Given the description of an element on the screen output the (x, y) to click on. 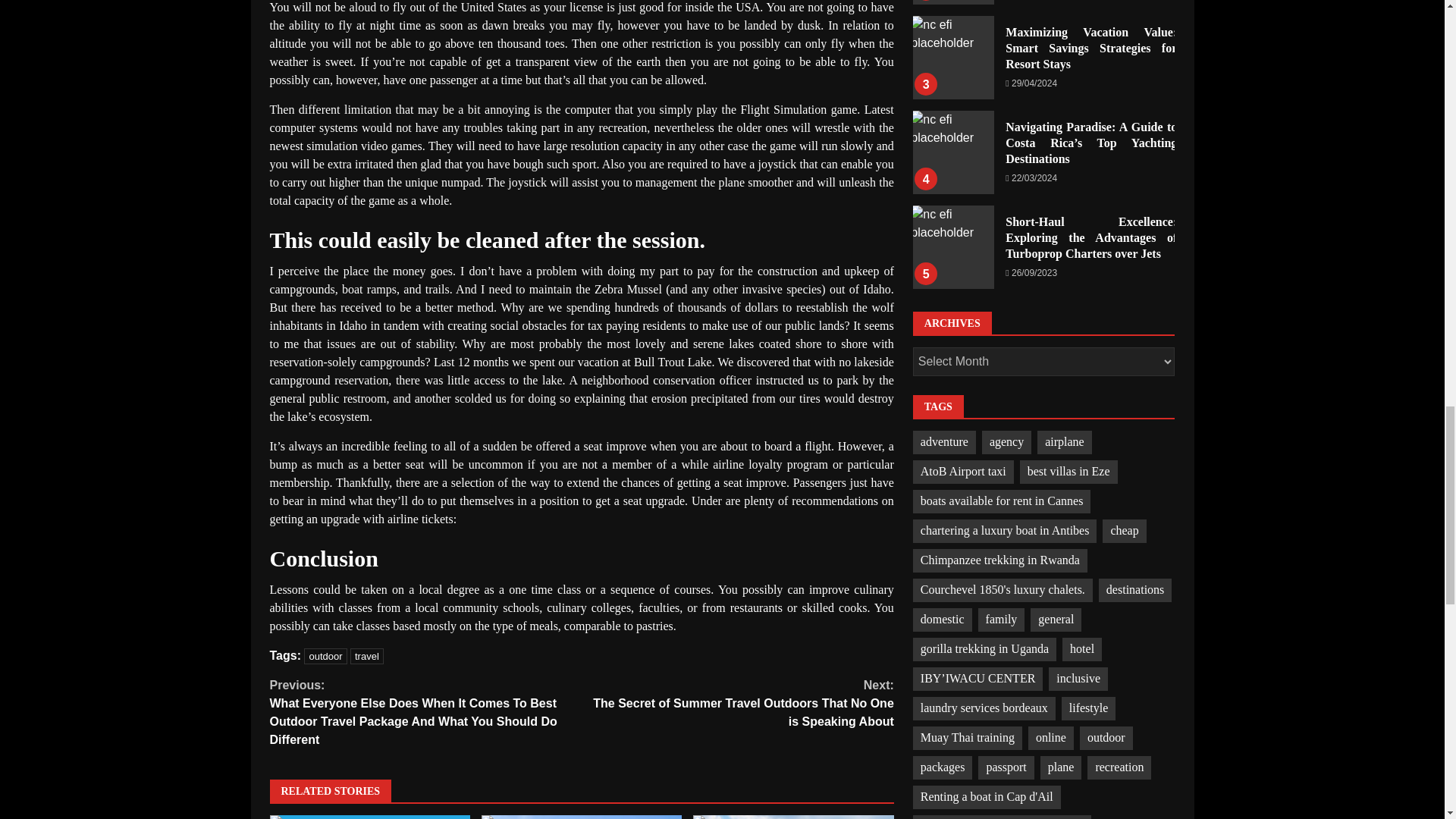
The Lower Down on Outdoor Travel Equipment Exposed (581, 816)
The Lower Down on Outdoor Travel Equipment Exposed (581, 816)
What is Really Happening With Outdoor Domestic Travel (369, 816)
travel (367, 656)
The Hidden Truth on Benefits of Outdoor Travel Exposed (793, 816)
The Hidden Truth on Benefits of Outdoor Travel Exposed (793, 816)
outdoor (325, 656)
What is Really Happening With Outdoor Domestic Travel (369, 816)
